Given the description of an element on the screen output the (x, y) to click on. 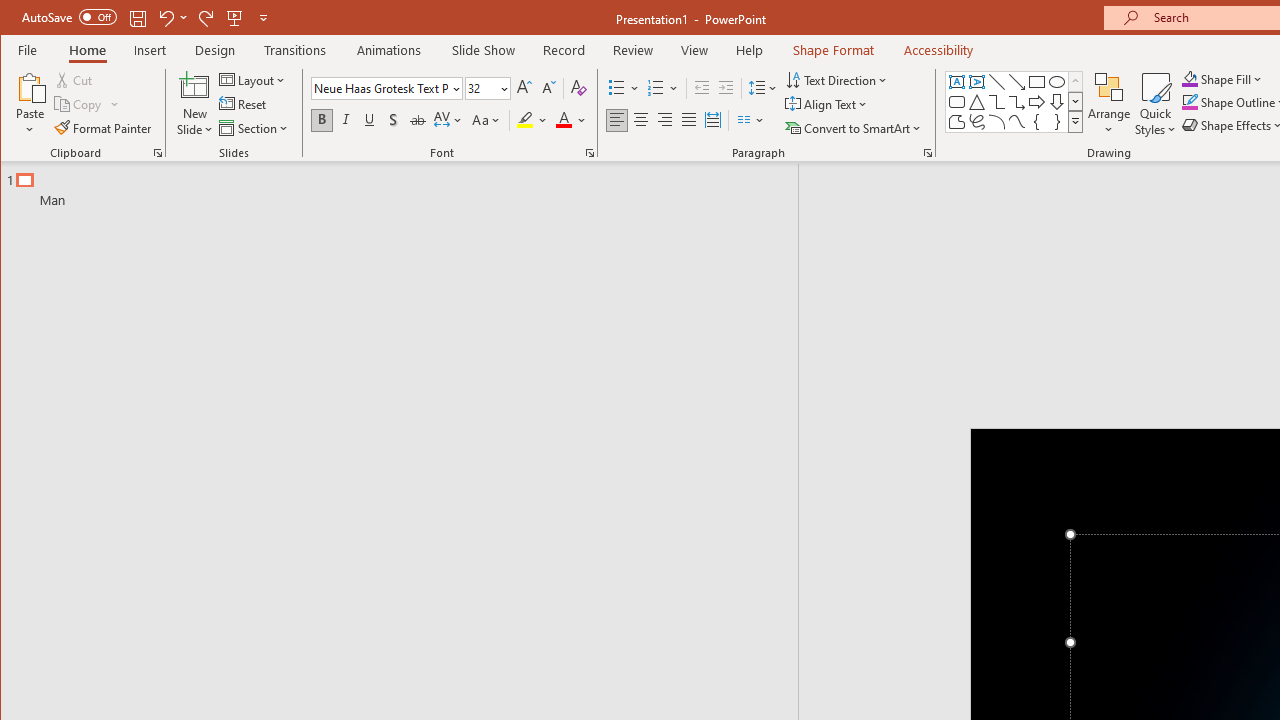
Columns (751, 119)
Align Text (828, 103)
Rectangle: Rounded Corners (956, 102)
Paragraph... (927, 152)
Character Spacing (449, 119)
Text Box (956, 82)
Decrease Font Size (548, 88)
